Given the description of an element on the screen output the (x, y) to click on. 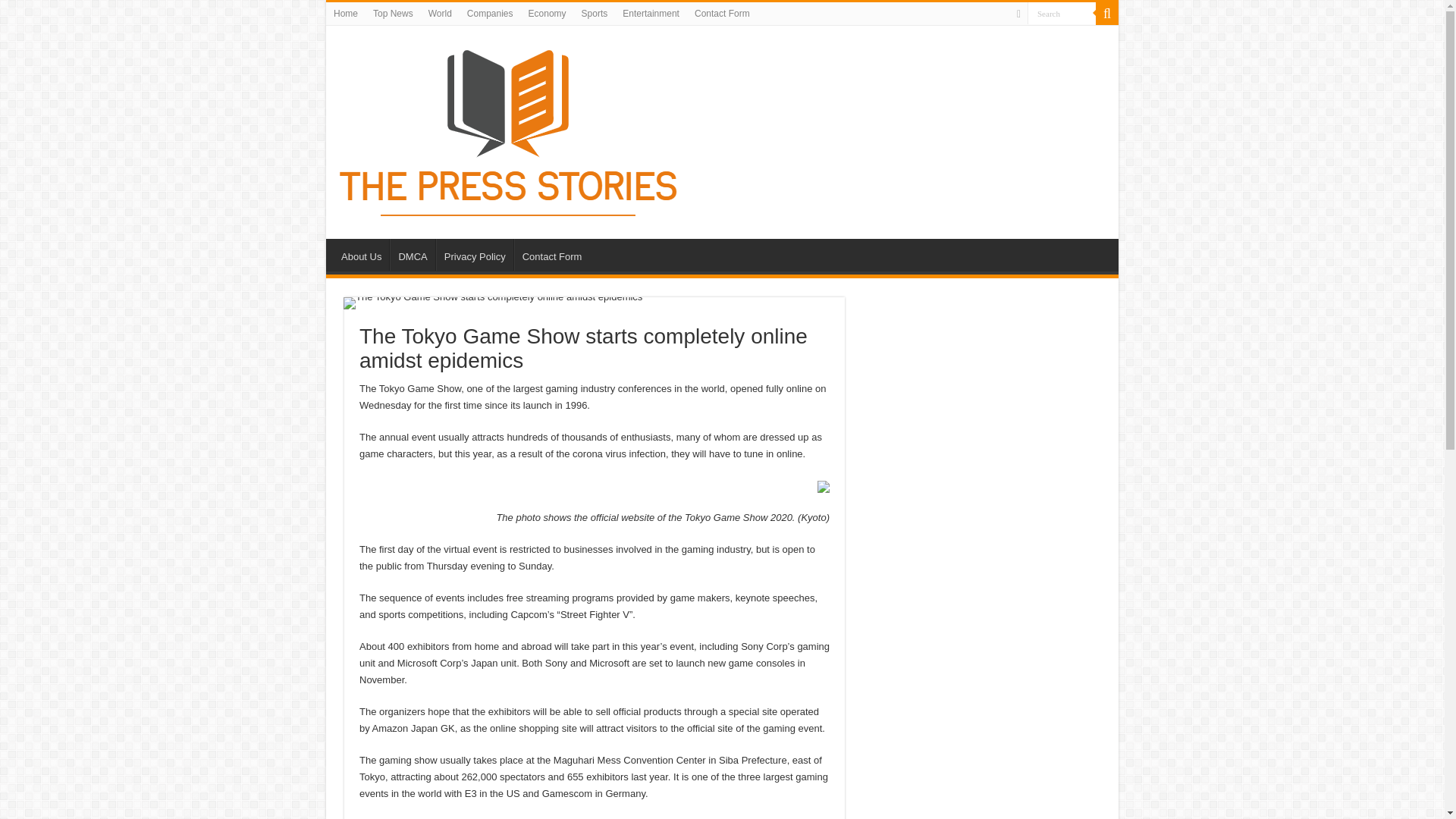
Contact Form (551, 255)
Search (1061, 13)
Companies (490, 13)
Entertainment (650, 13)
DMCA (411, 255)
Economy (547, 13)
The Press Stories (509, 129)
Privacy Policy (474, 255)
Search (1061, 13)
Top News (392, 13)
Search (1107, 13)
Search (1061, 13)
Contact Form (722, 13)
Sports (594, 13)
Home (345, 13)
